Given the description of an element on the screen output the (x, y) to click on. 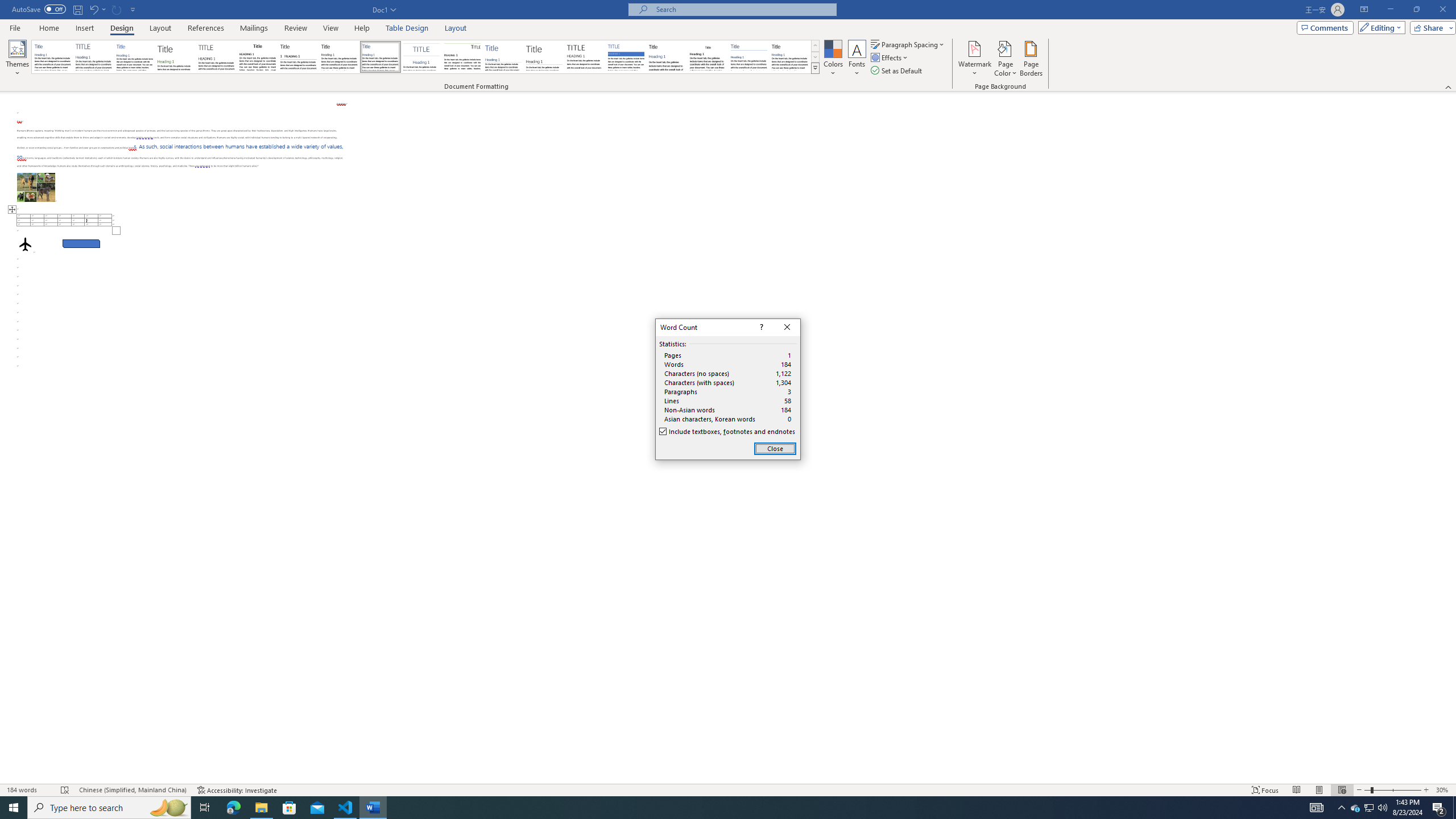
Word 2003 (707, 56)
Set as Default (897, 69)
Style Set (814, 67)
Undo Apply Quick Style Set (96, 9)
Can't Repeat (117, 9)
